Given the description of an element on the screen output the (x, y) to click on. 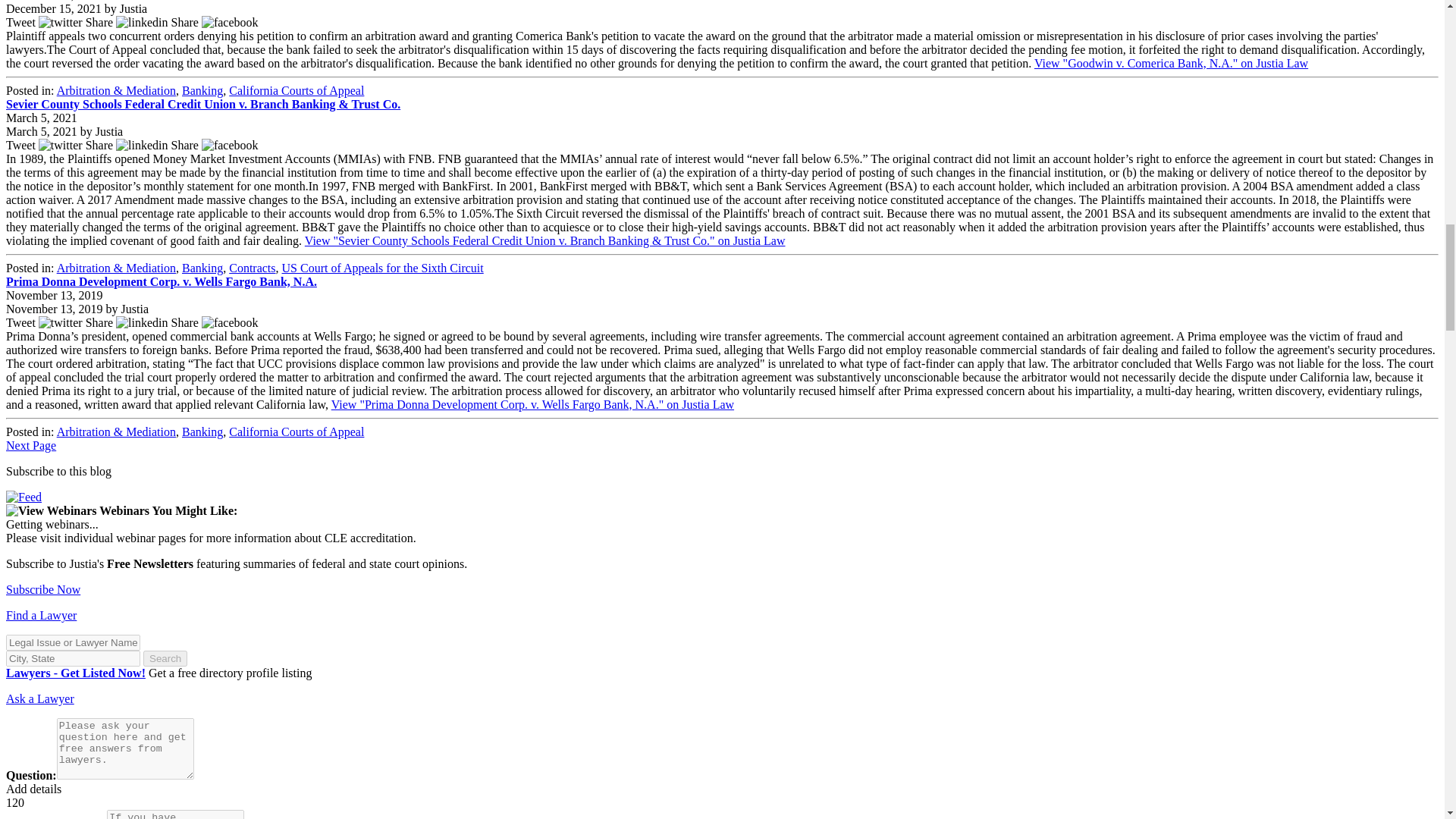
Search (164, 658)
Search (164, 658)
